Given the description of an element on the screen output the (x, y) to click on. 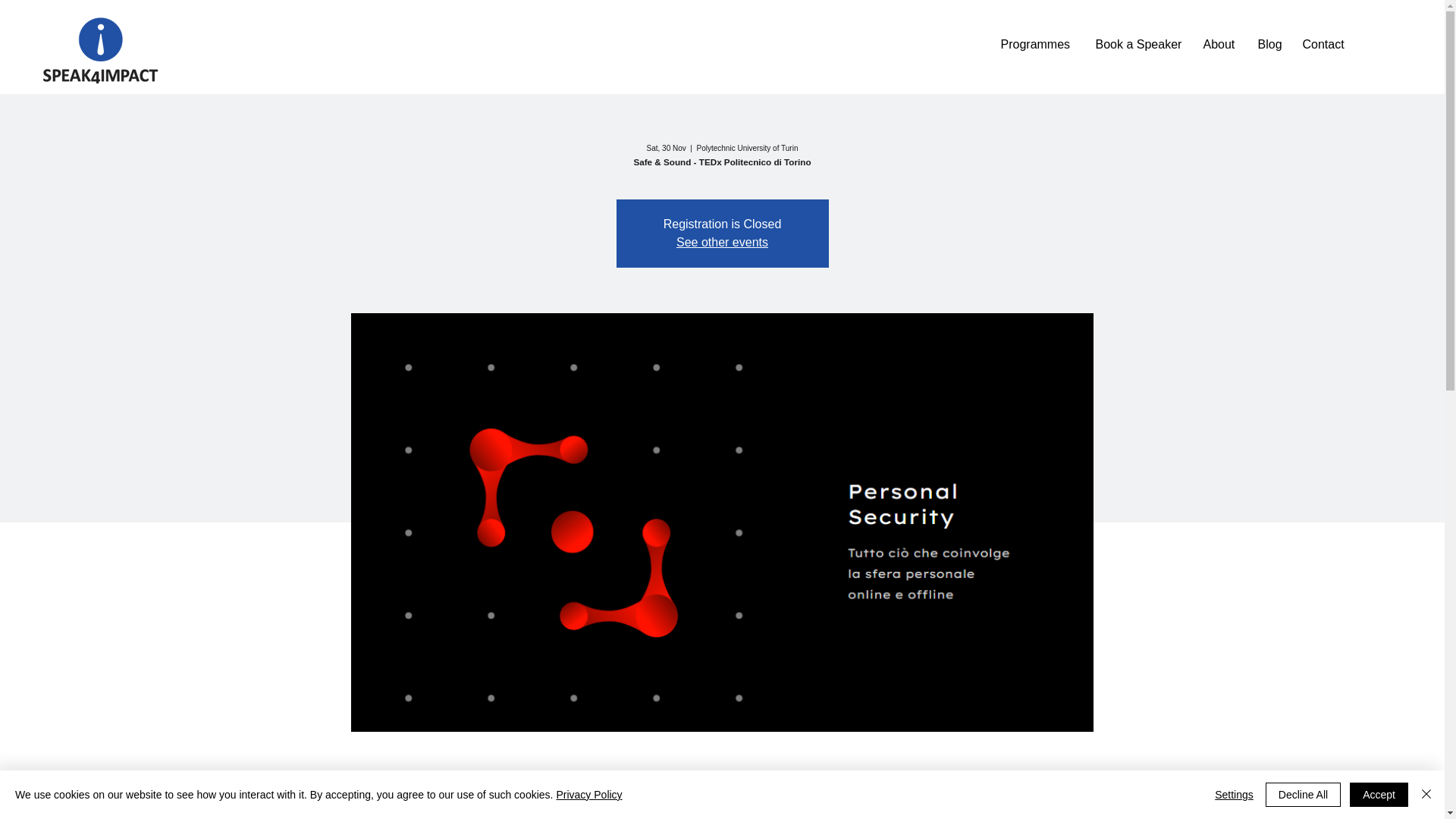
Accept (1378, 794)
Book a Speaker (1139, 37)
Contact (1324, 37)
Privacy Policy (588, 794)
Decline All (1302, 794)
See other events (722, 241)
Blog (1269, 37)
About (1220, 37)
